Given the description of an element on the screen output the (x, y) to click on. 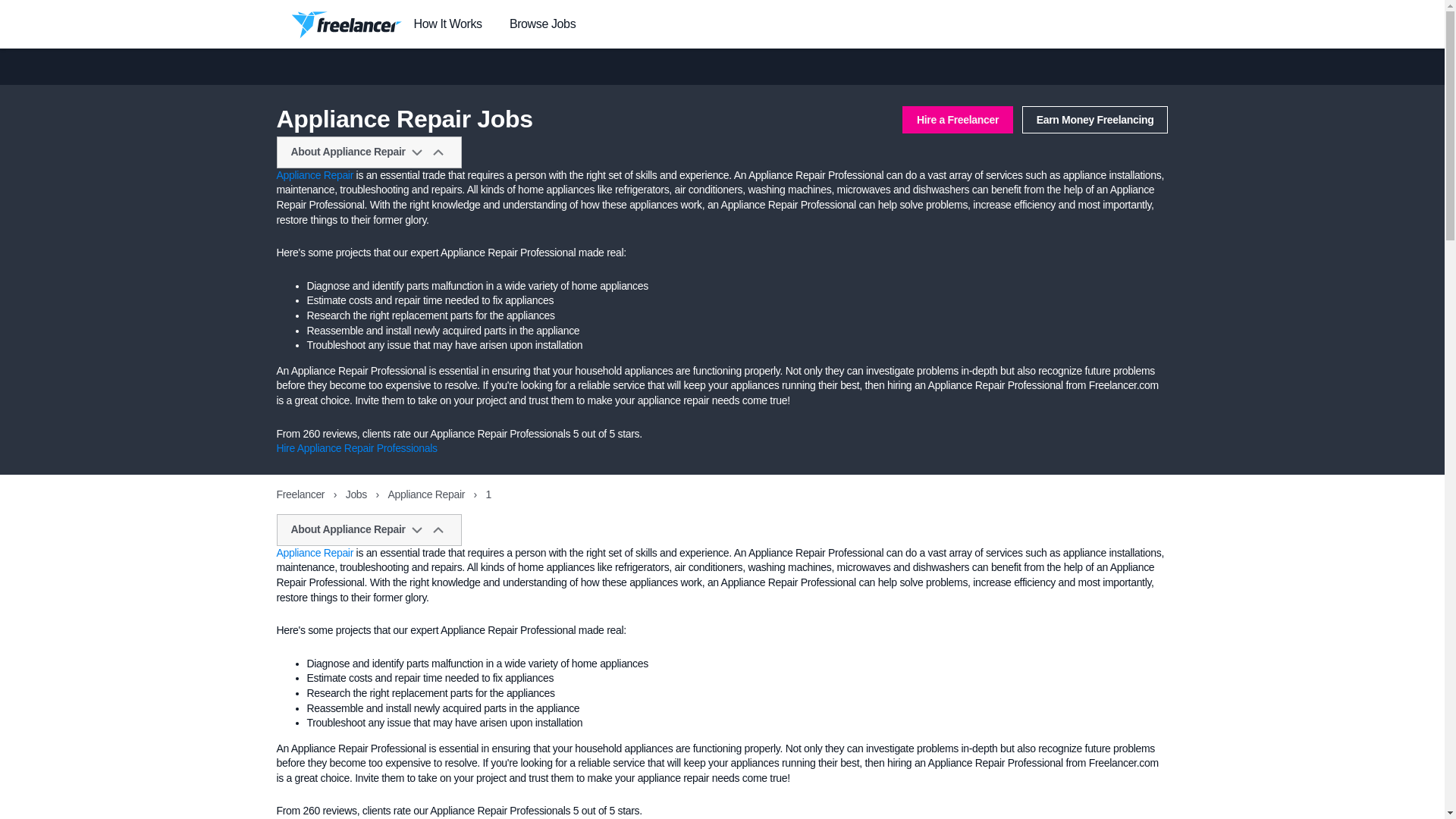
Freelancer (301, 494)
About Appliance Repair (368, 152)
Appliance Repair (314, 552)
Jobs (357, 494)
Hire a Freelancer (957, 119)
About Appliance Repair (368, 530)
Appliance Repair (427, 494)
Earn Money Freelancing (1095, 119)
Browse Jobs (542, 24)
How It Works (447, 24)
